Given the description of an element on the screen output the (x, y) to click on. 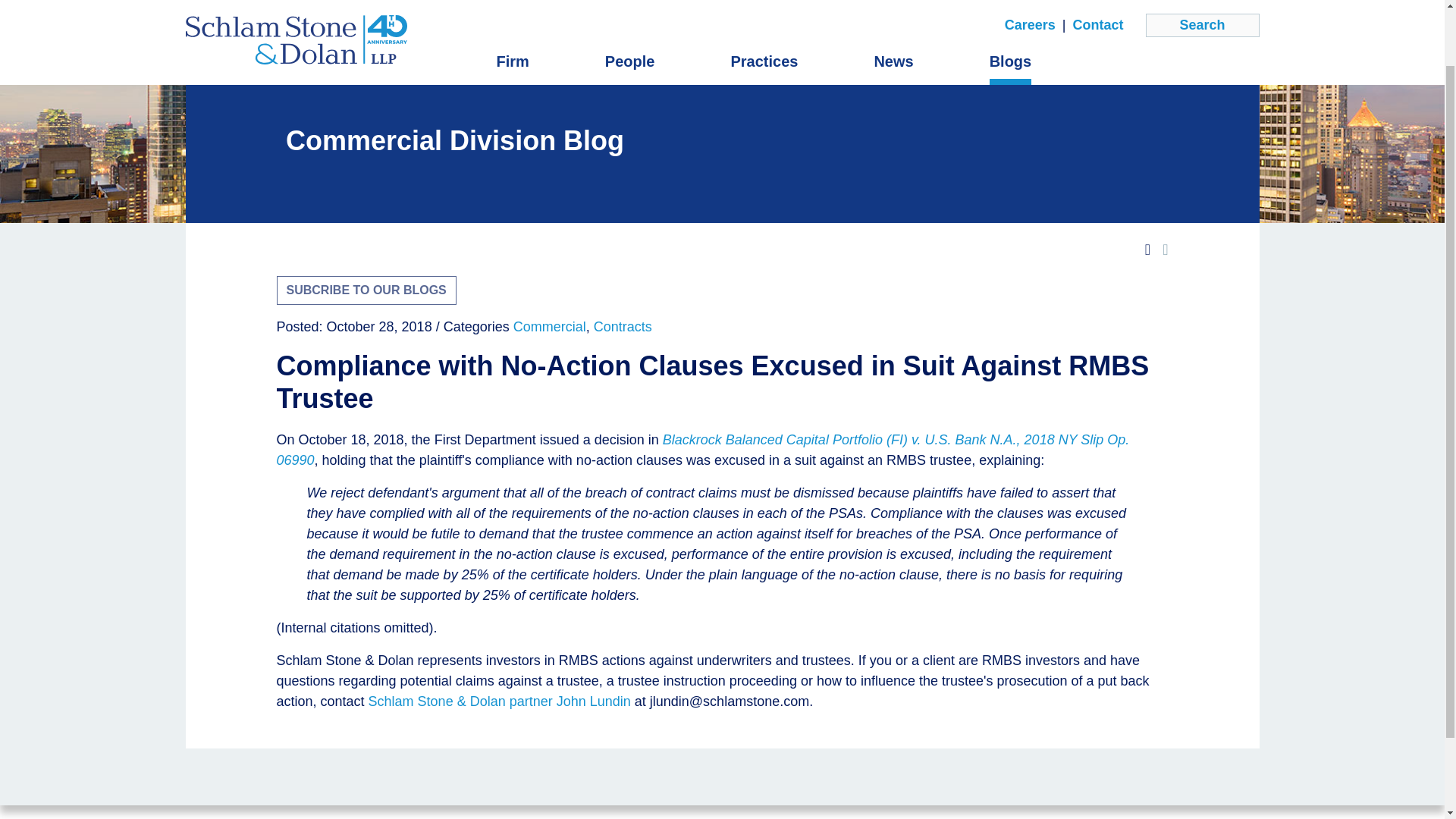
News (892, 2)
People (630, 2)
Commercial (549, 326)
Blogs (1011, 2)
SUBCRIBE TO OUR BLOGS (365, 290)
Contracts (623, 326)
Firm (512, 2)
Practices (763, 2)
